Given the description of an element on the screen output the (x, y) to click on. 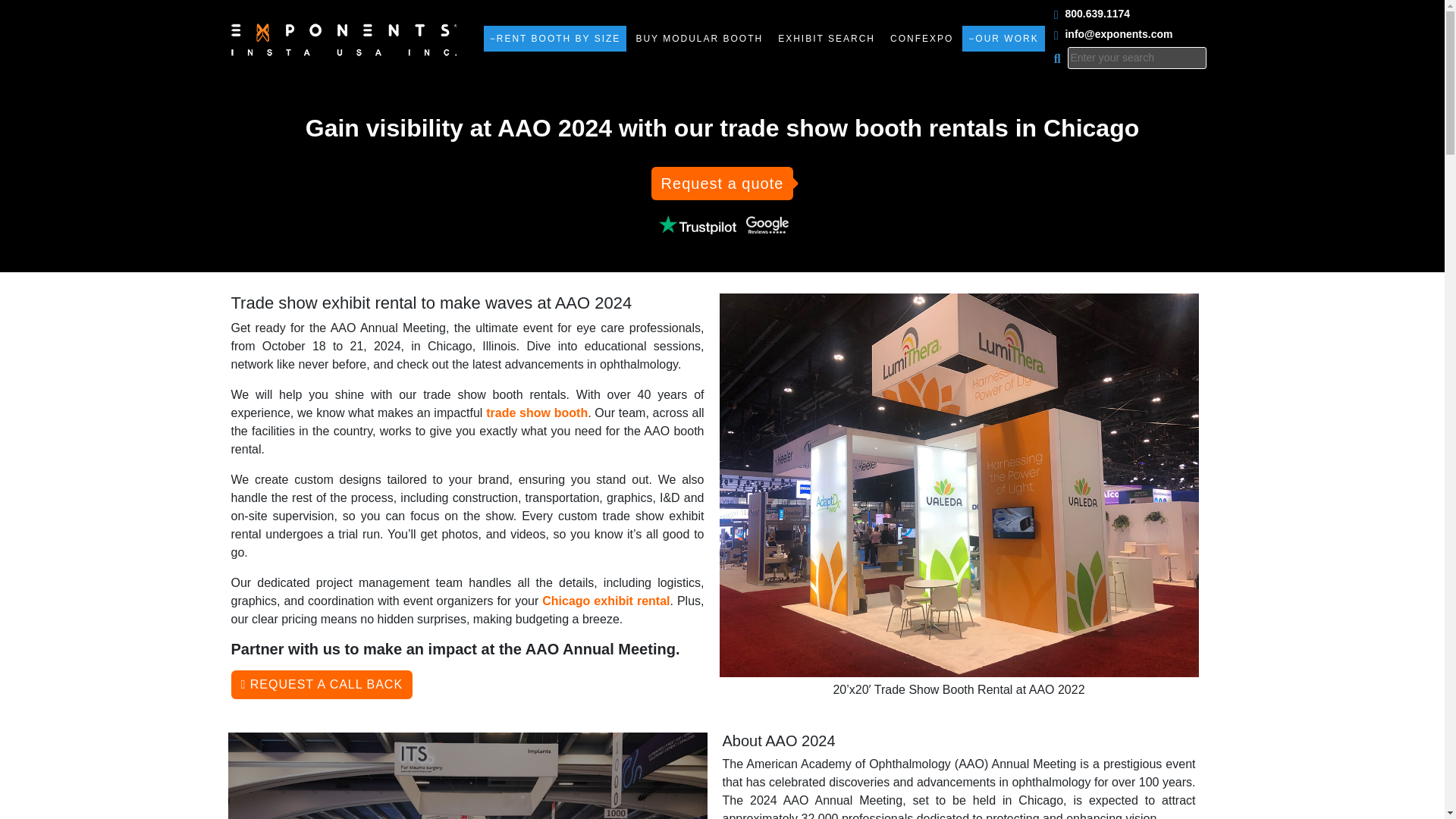
OUR WORK (1002, 38)
RENT BOOTH BY SIZE (555, 38)
BUY MODULAR BOOTH (698, 38)
CONFEXPO (921, 38)
EXHIBIT SEARCH (825, 38)
